Given the description of an element on the screen output the (x, y) to click on. 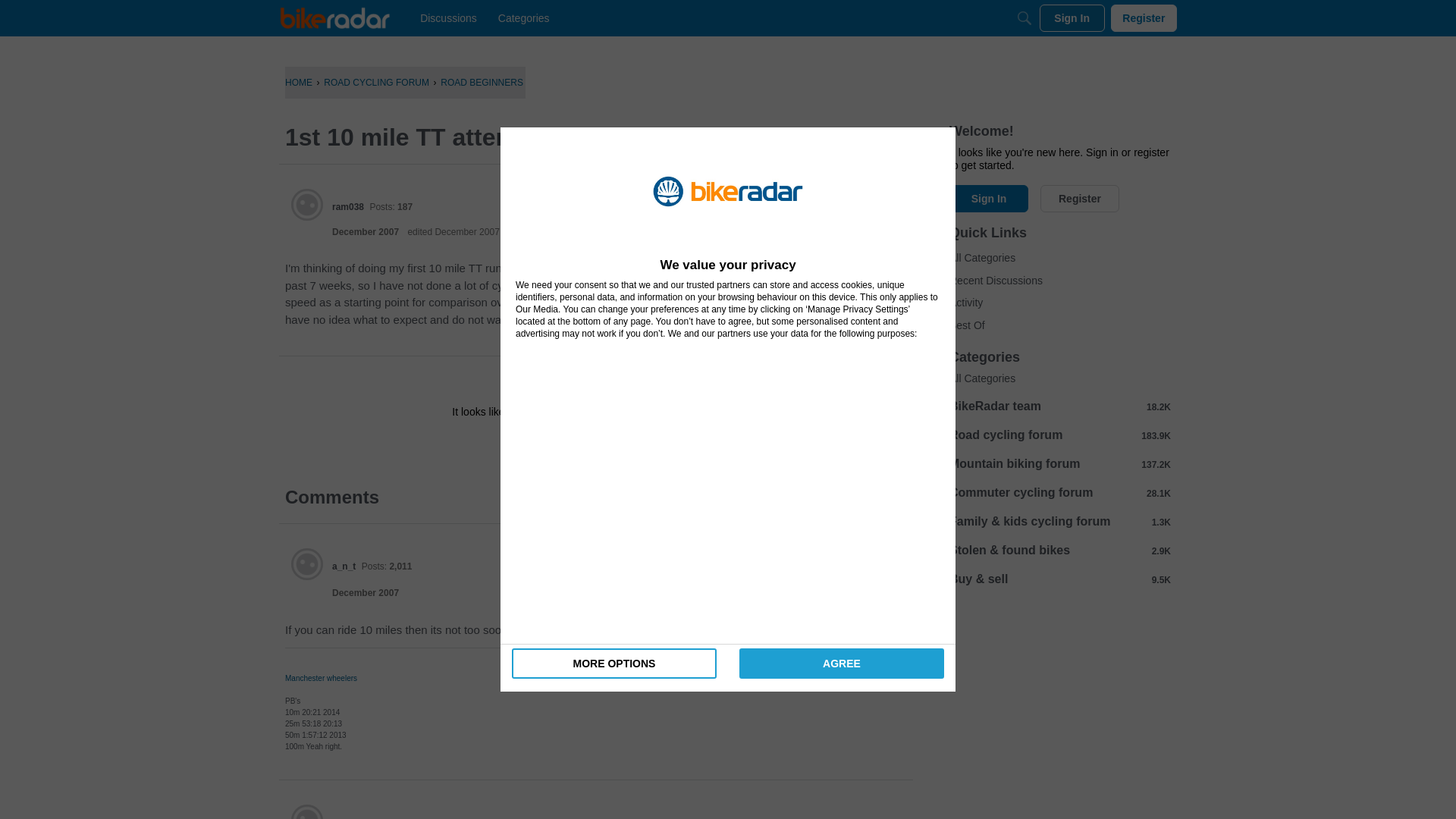
ROAD BEGINNERS (481, 81)
Discussions (448, 17)
December 2007 (364, 231)
CarlosFerreiro (362, 818)
ram038 (347, 206)
Edited December 31, 2007 1:33AM. (453, 231)
Search (1024, 17)
December 2007 (364, 593)
Manchester wheelers (320, 678)
December 13, 2007 5:17PM (364, 231)
December 13, 2007 5:30PM (364, 593)
ROAD CYCLING FORUM (376, 81)
Register (638, 445)
Sign In (547, 445)
HOME (299, 81)
